Given the description of an element on the screen output the (x, y) to click on. 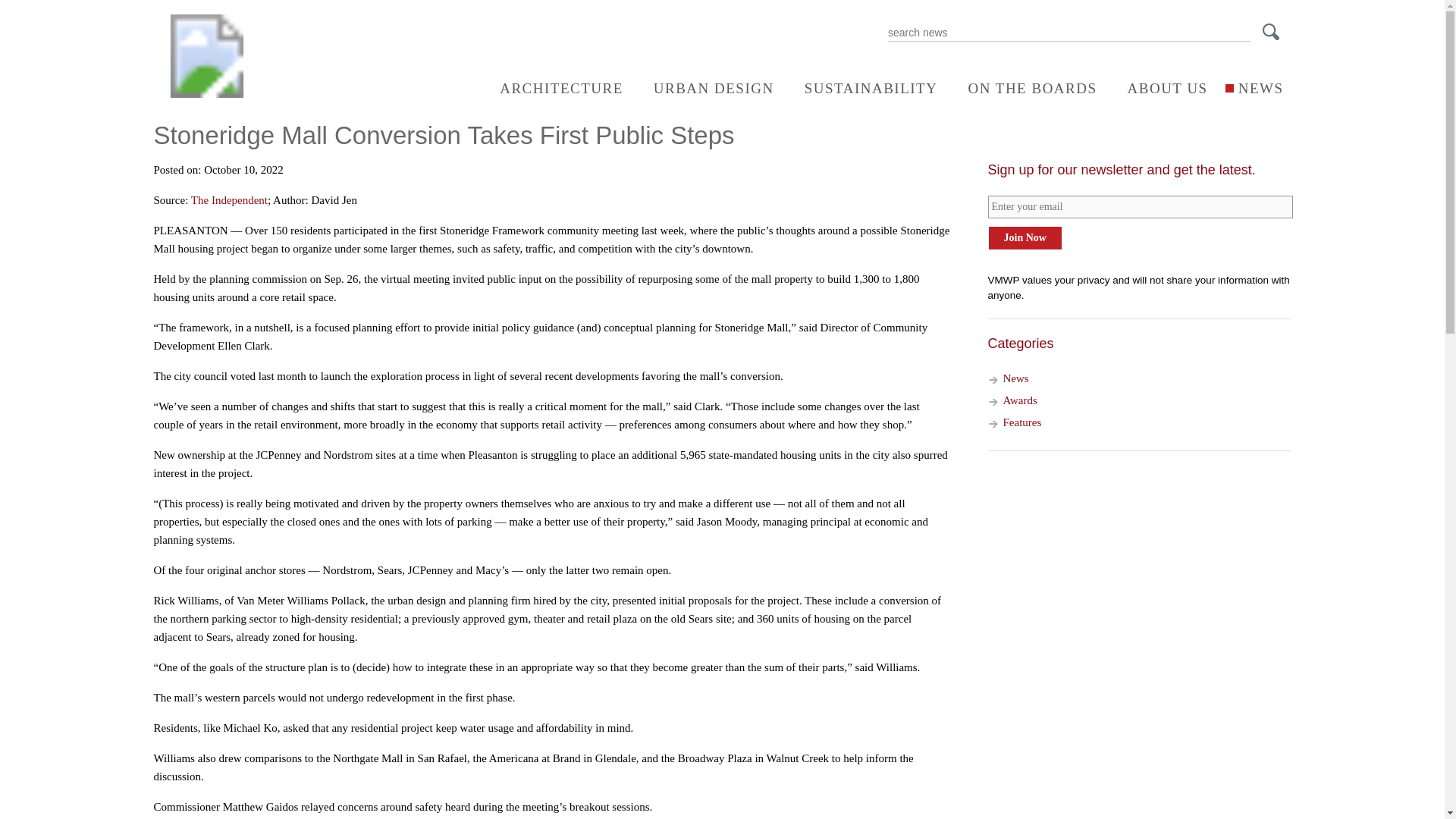
Join Now (1024, 238)
Features (1022, 422)
ARCHITECTURE (553, 88)
Search (1275, 35)
ON THE BOARDS (1024, 88)
URBAN DESIGN (706, 88)
The Independent (228, 200)
SUSTAINABILITY (863, 88)
News (1015, 378)
ABOUT US (1160, 88)
Join Now (1024, 238)
Van Meter Williams Pollack LLP (205, 92)
NEWS (1253, 88)
Awards (1019, 399)
Search (1275, 35)
